Given the description of an element on the screen output the (x, y) to click on. 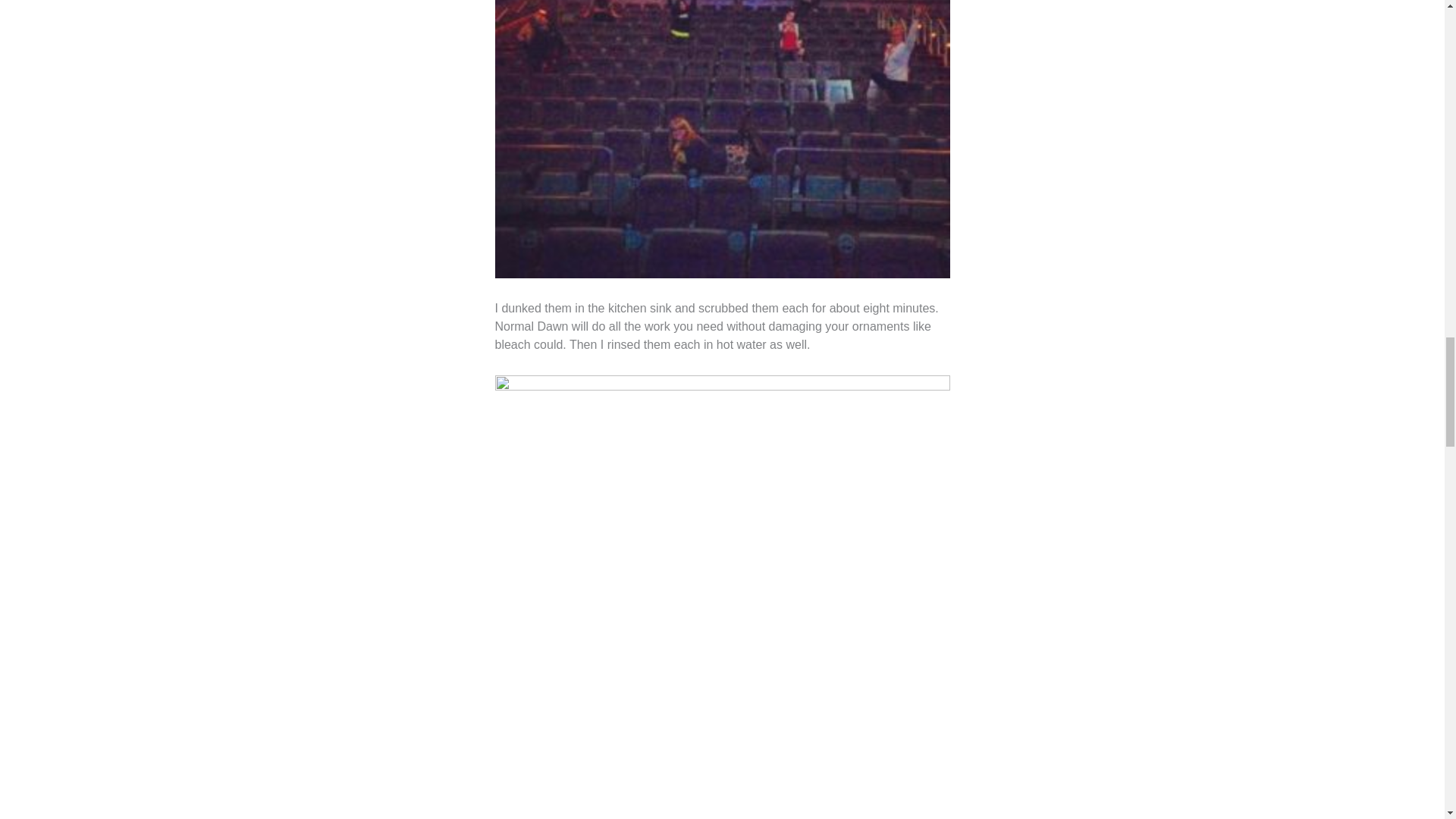
washing (722, 139)
